Given the description of an element on the screen output the (x, y) to click on. 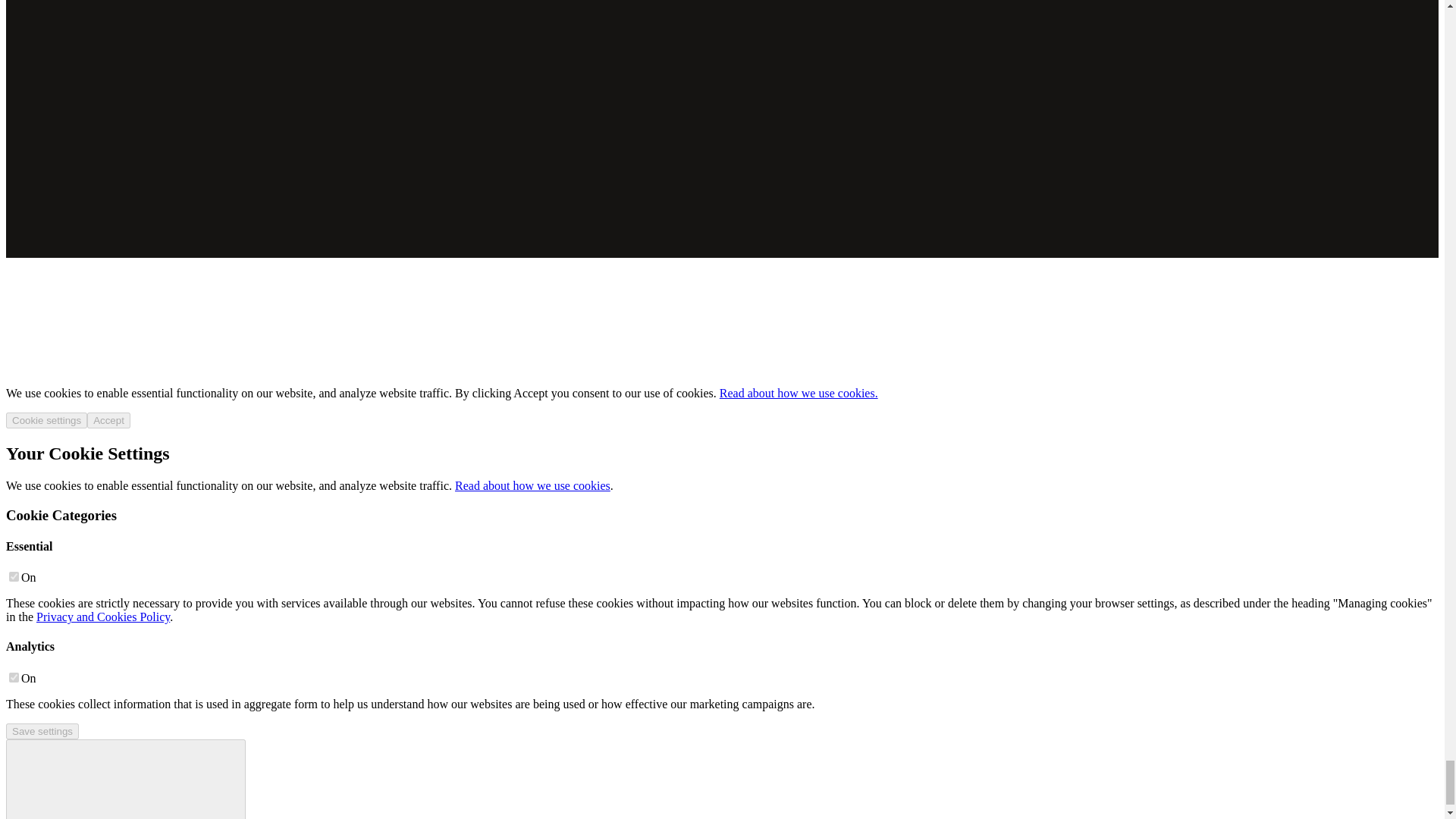
on (13, 677)
Cookie settings (46, 420)
Read about how we use cookies (532, 485)
Accept (109, 420)
on (13, 576)
Read about how we use cookies. (798, 392)
Privacy and Cookies Policy (103, 616)
Save settings (41, 731)
